Given the description of an element on the screen output the (x, y) to click on. 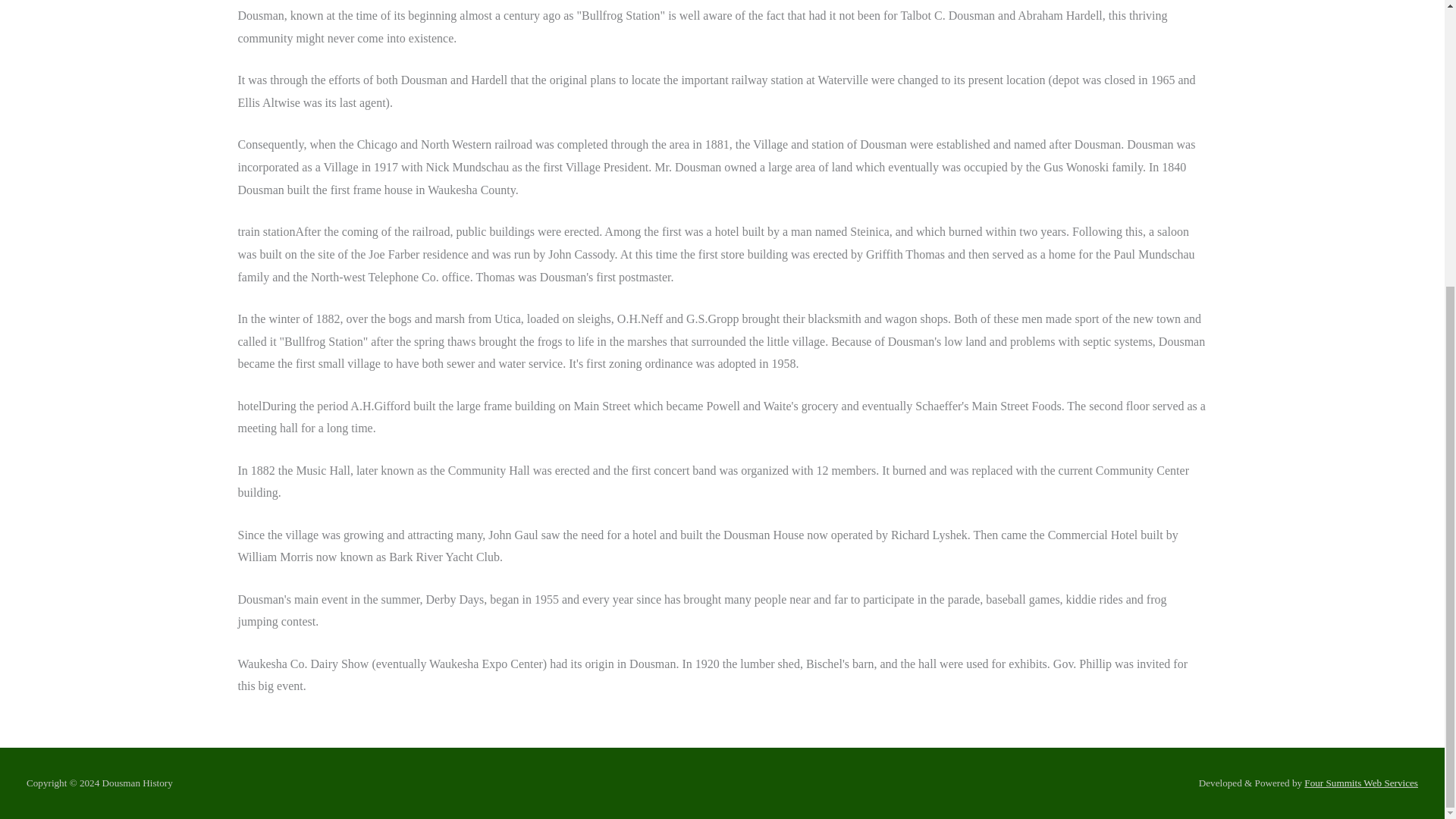
Four Summits Web Services (1361, 782)
